Given the description of an element on the screen output the (x, y) to click on. 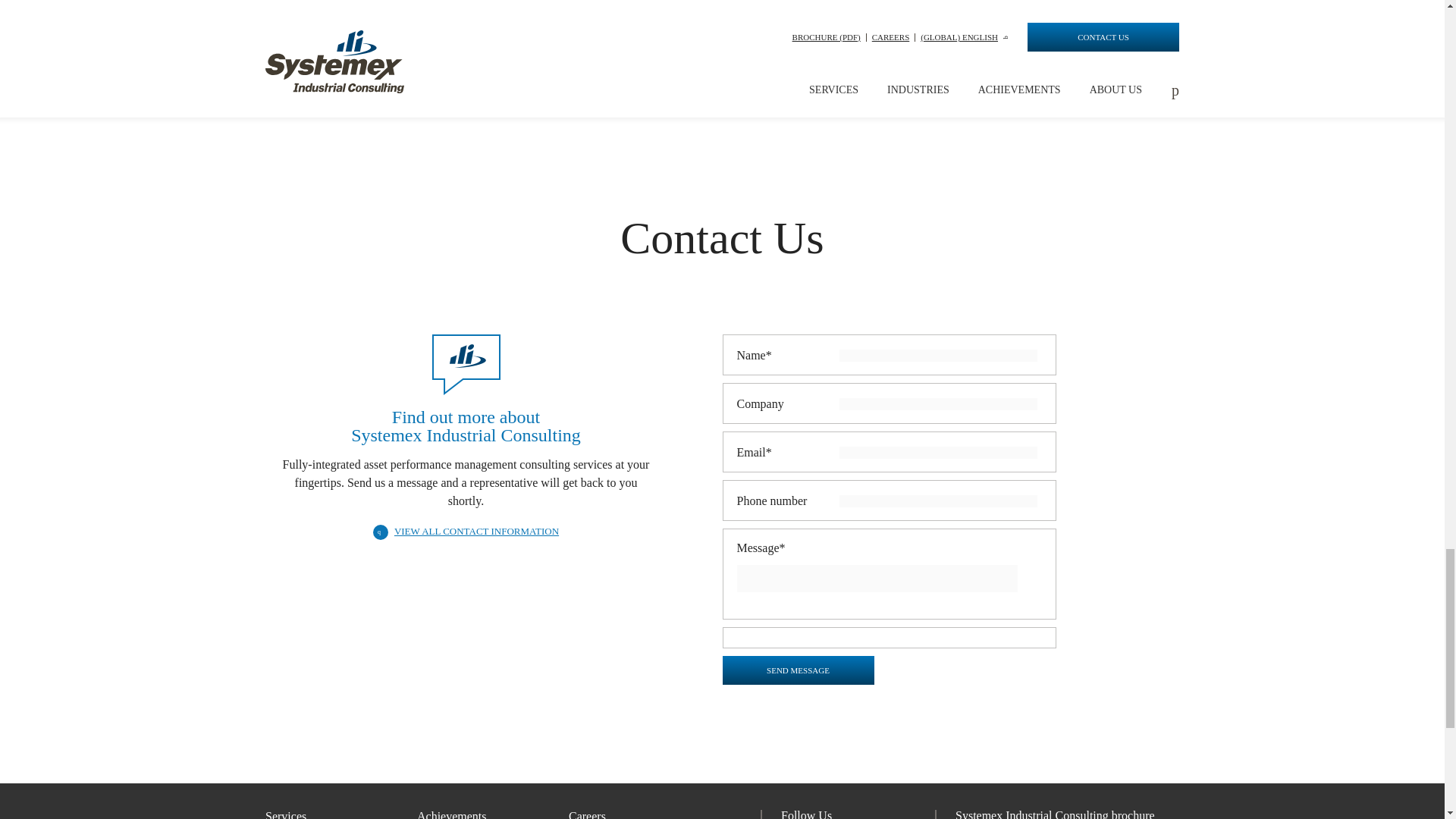
Services (340, 814)
DOWNLOAD THE PDF VERSION (407, 73)
VIEW ALL CONTACT INFORMATION (465, 530)
SEND MESSAGE (797, 670)
